Given the description of an element on the screen output the (x, y) to click on. 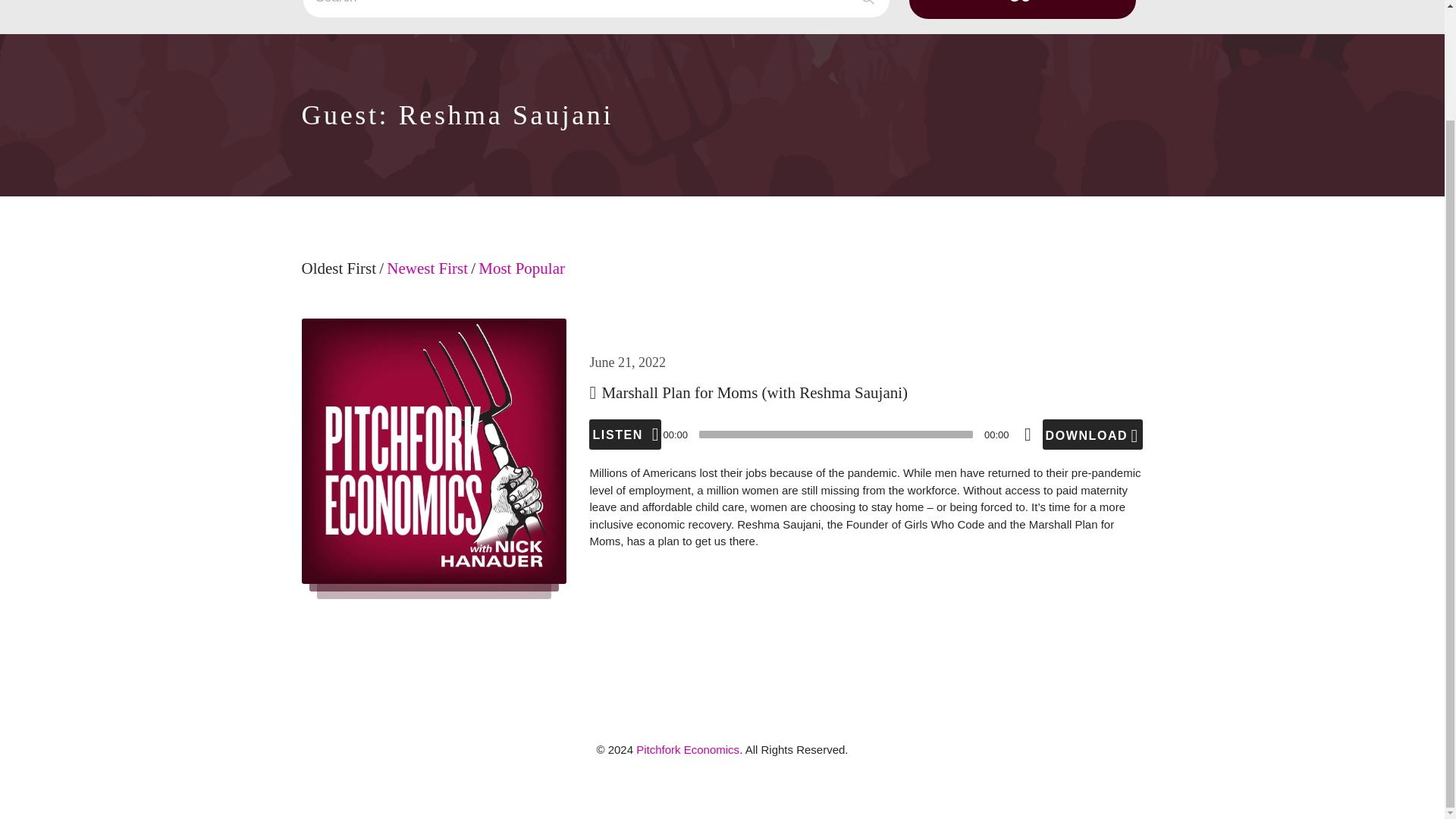
Play (625, 434)
Newest First (427, 278)
Search (596, 9)
Go (1022, 9)
June 21, 2022 (627, 362)
Mute (1027, 434)
Go (1022, 9)
Oldest First (339, 278)
Pitchfork Economics (687, 748)
Most Popular (521, 278)
Go (1022, 9)
